Given the description of an element on the screen output the (x, y) to click on. 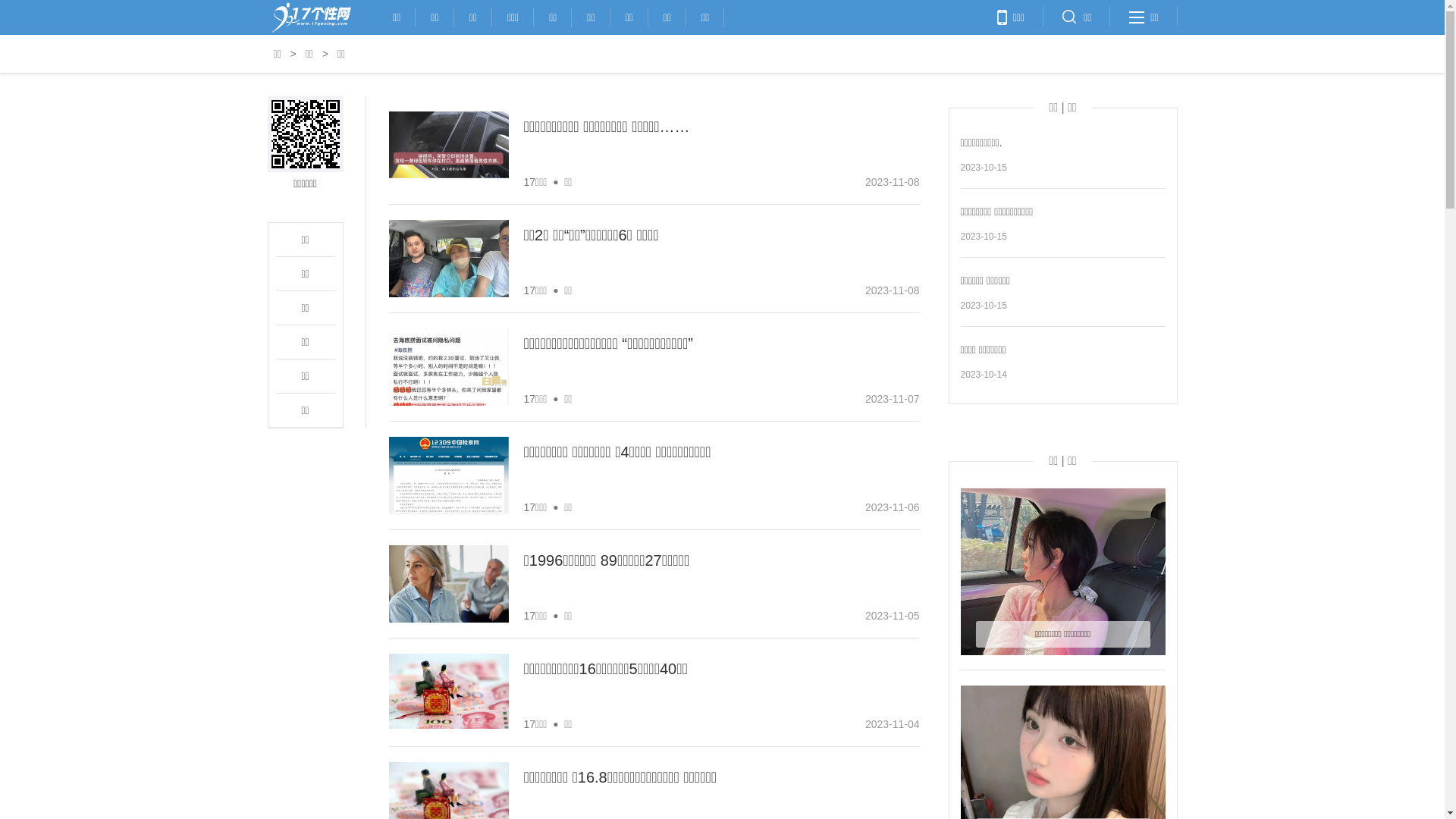
http://mip.17gexing.com/shenghuo/baitai/ Element type: hover (304, 134)
